Given the description of an element on the screen output the (x, y) to click on. 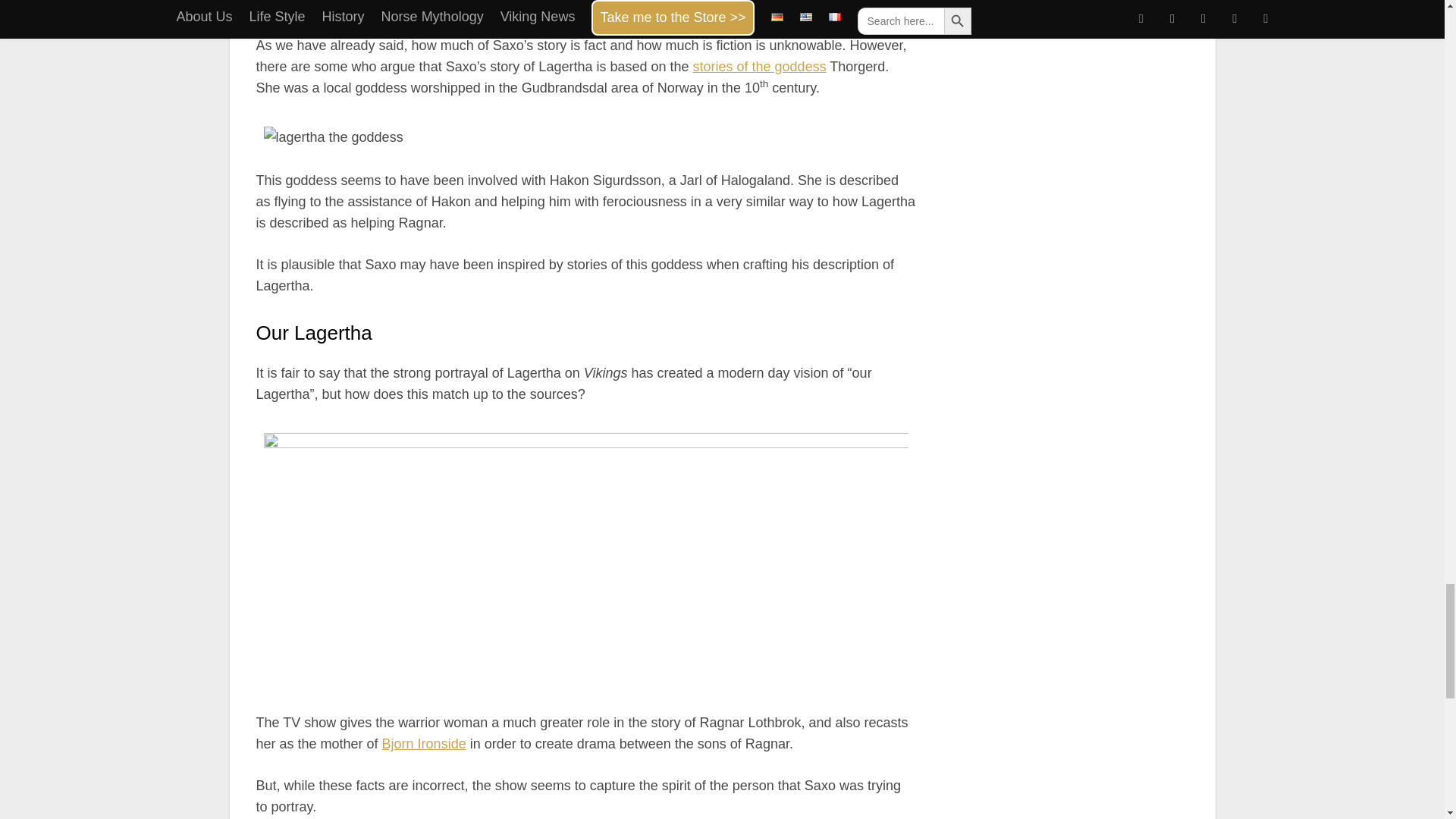
Bjorn Ironside (423, 743)
stories of the goddess (760, 66)
